Given the description of an element on the screen output the (x, y) to click on. 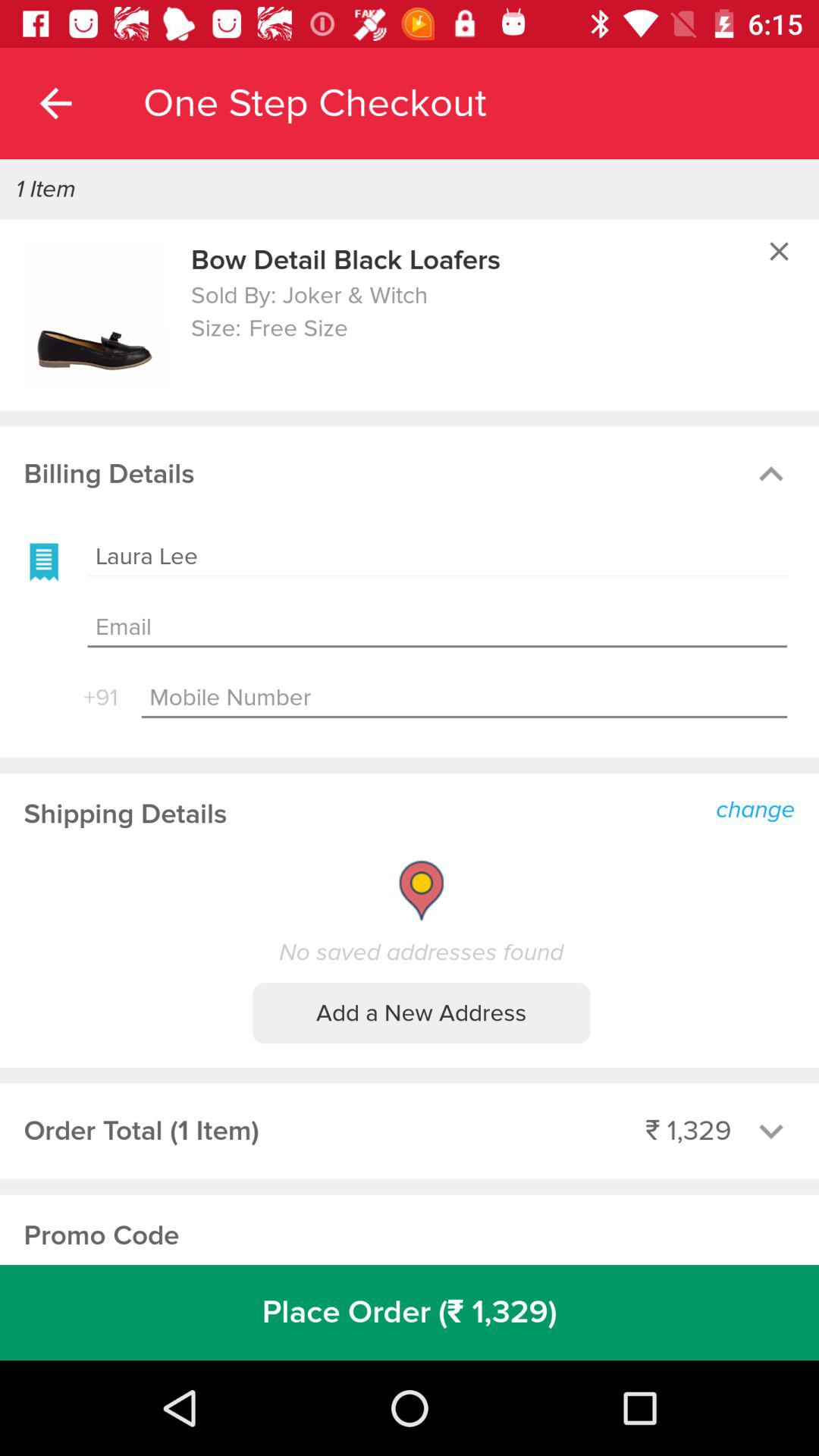
remove item (779, 251)
